Given the description of an element on the screen output the (x, y) to click on. 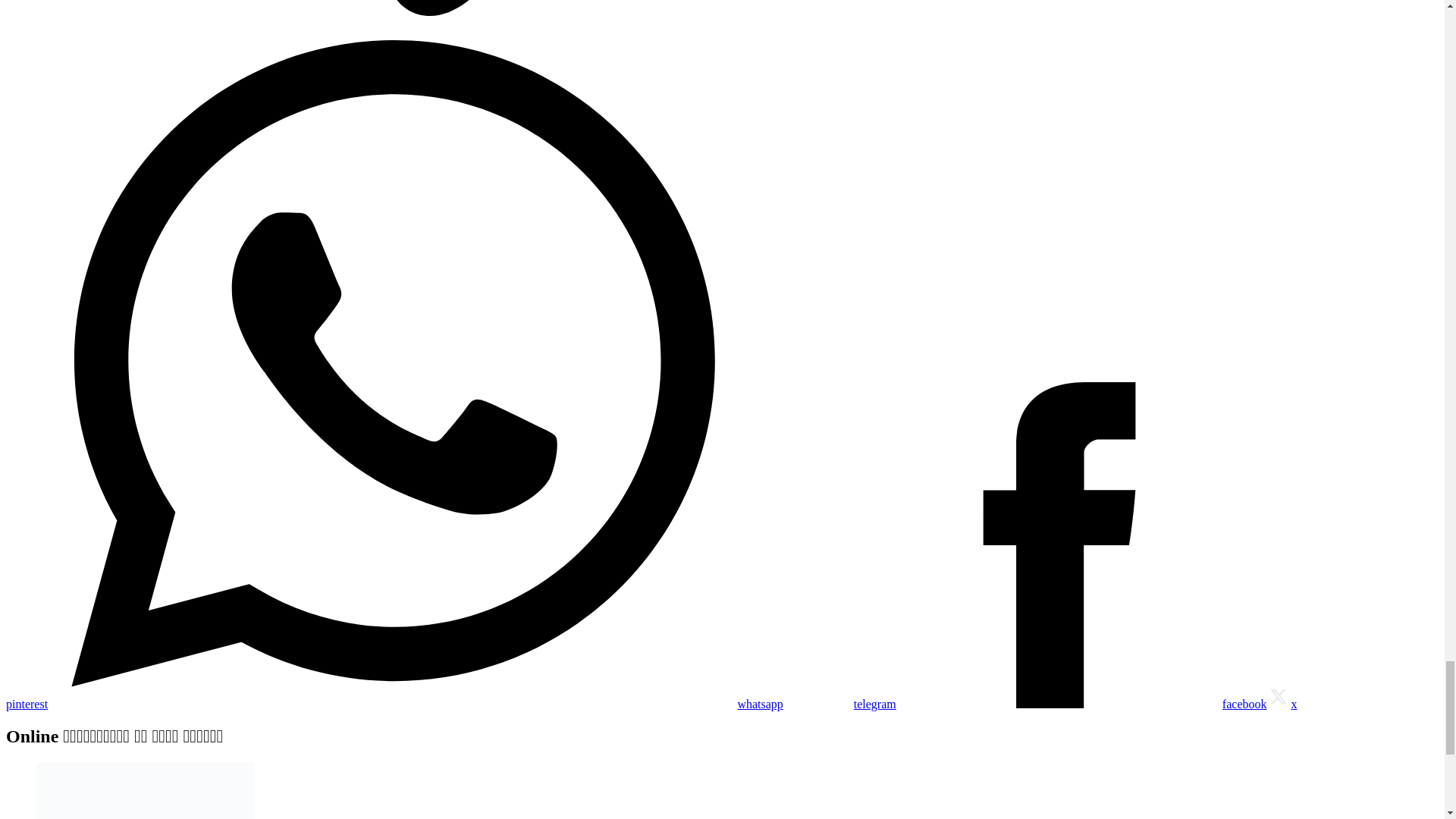
x (1281, 703)
facebook (1081, 703)
whatsapp (415, 703)
telegram (839, 703)
